Given the description of an element on the screen output the (x, y) to click on. 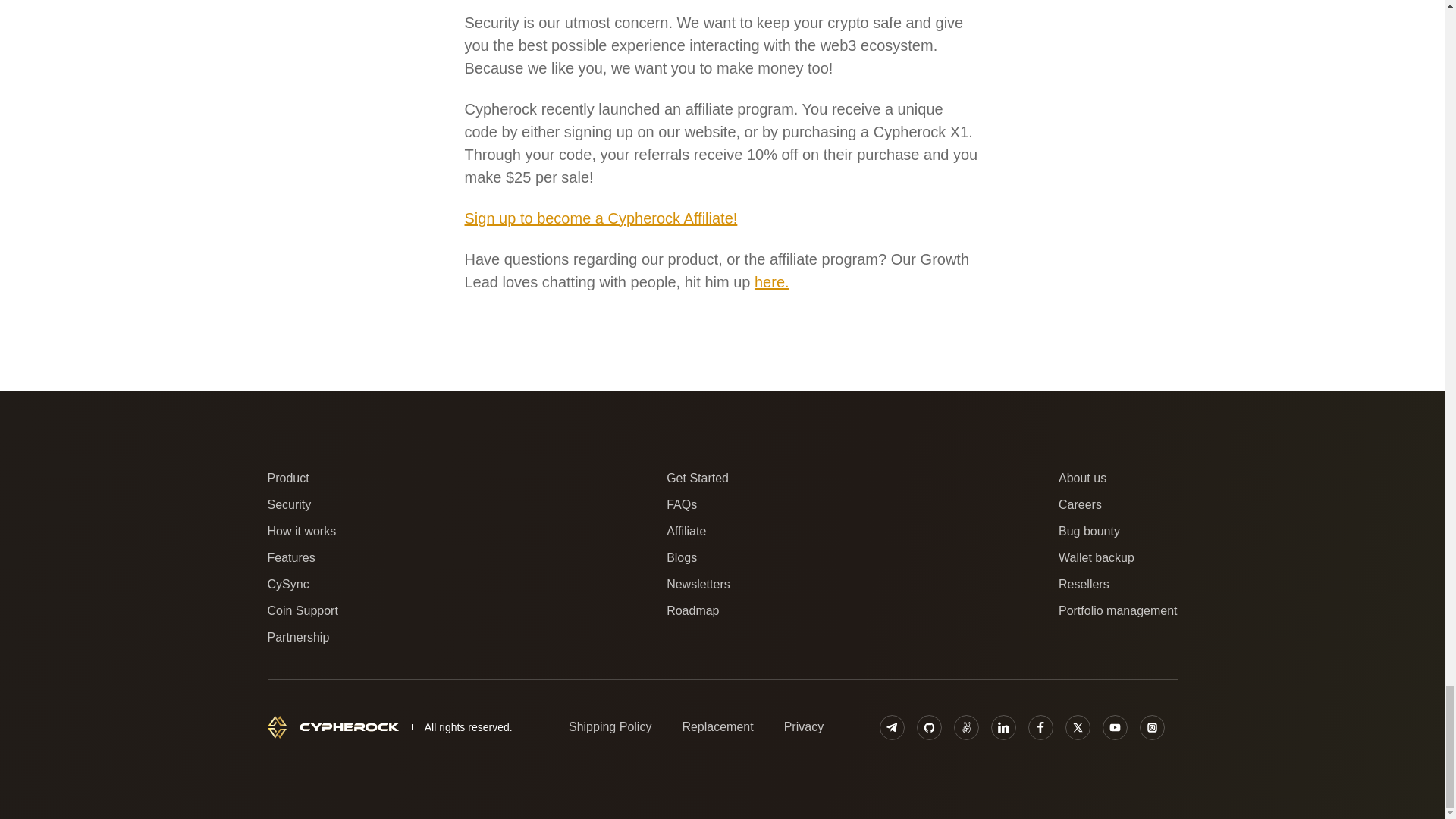
Sign up to become a Cypherock Affiliate! (600, 217)
here. (771, 281)
How it works (301, 531)
Product (287, 478)
Security (288, 505)
